Given the description of an element on the screen output the (x, y) to click on. 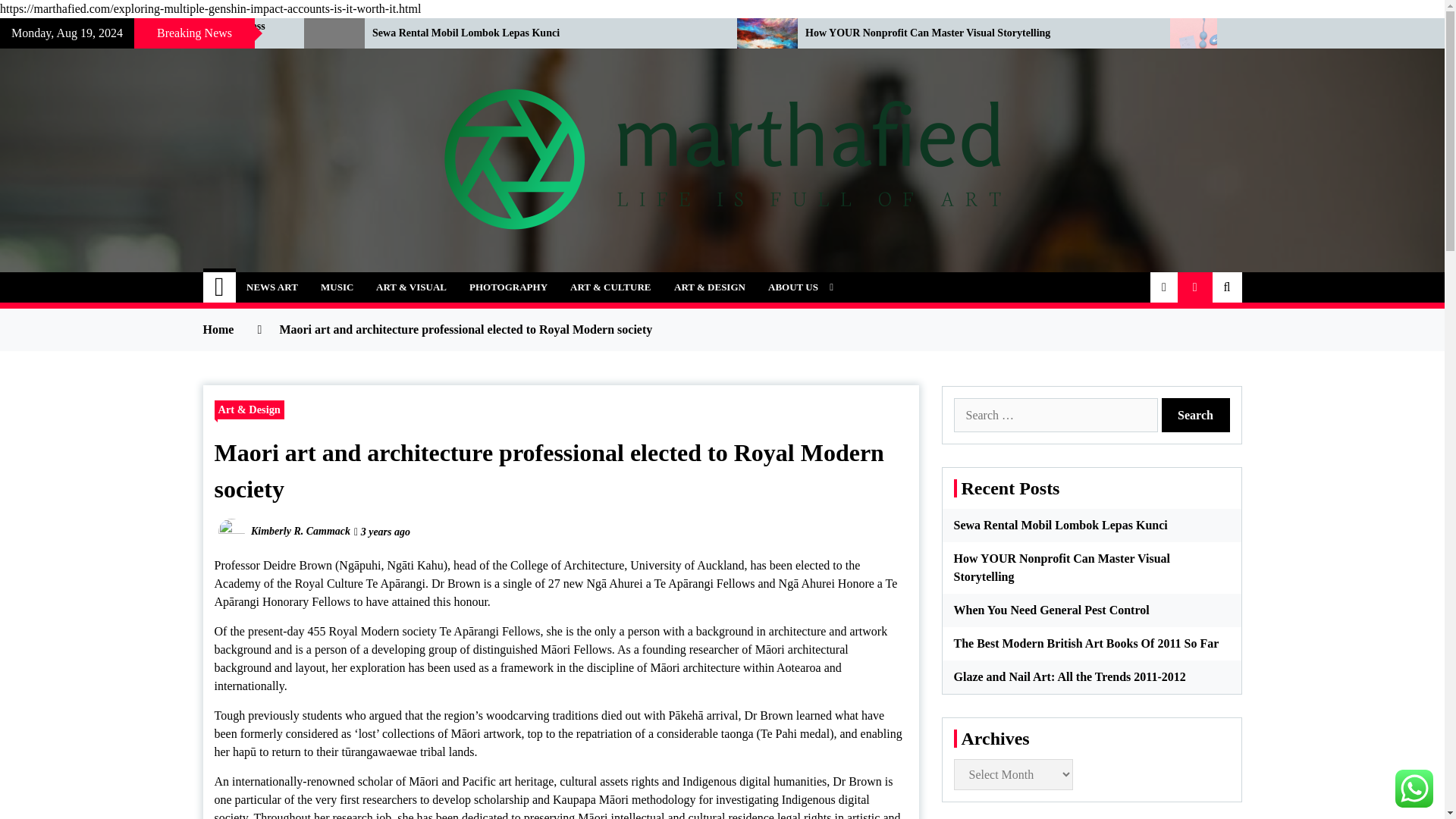
Search (1195, 415)
Home (219, 286)
Sewa Rental Mobil Lombok Lepas Kunci (543, 33)
Search (1195, 415)
How YOUR Nonprofit Can Master Visual Storytelling (976, 33)
